Given the description of an element on the screen output the (x, y) to click on. 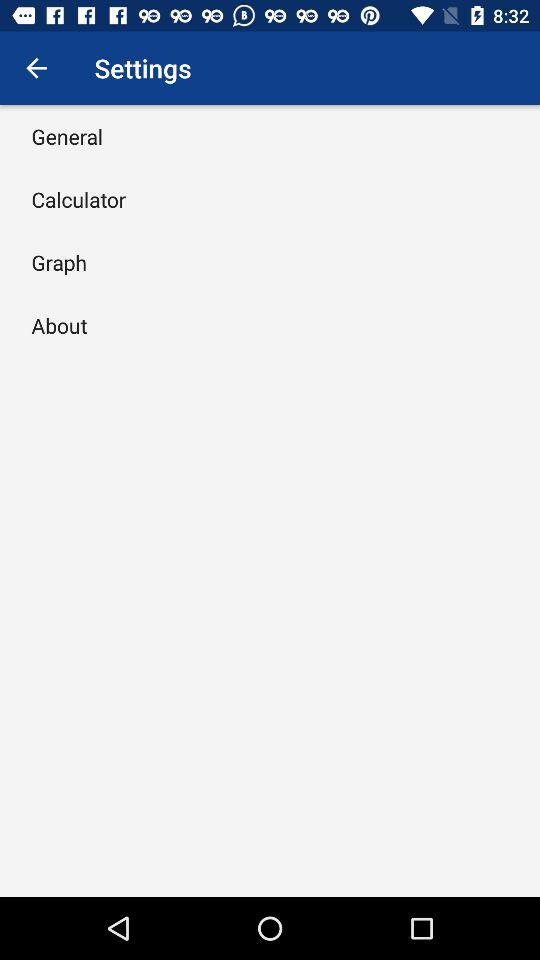
press icon on the left (59, 325)
